Given the description of an element on the screen output the (x, y) to click on. 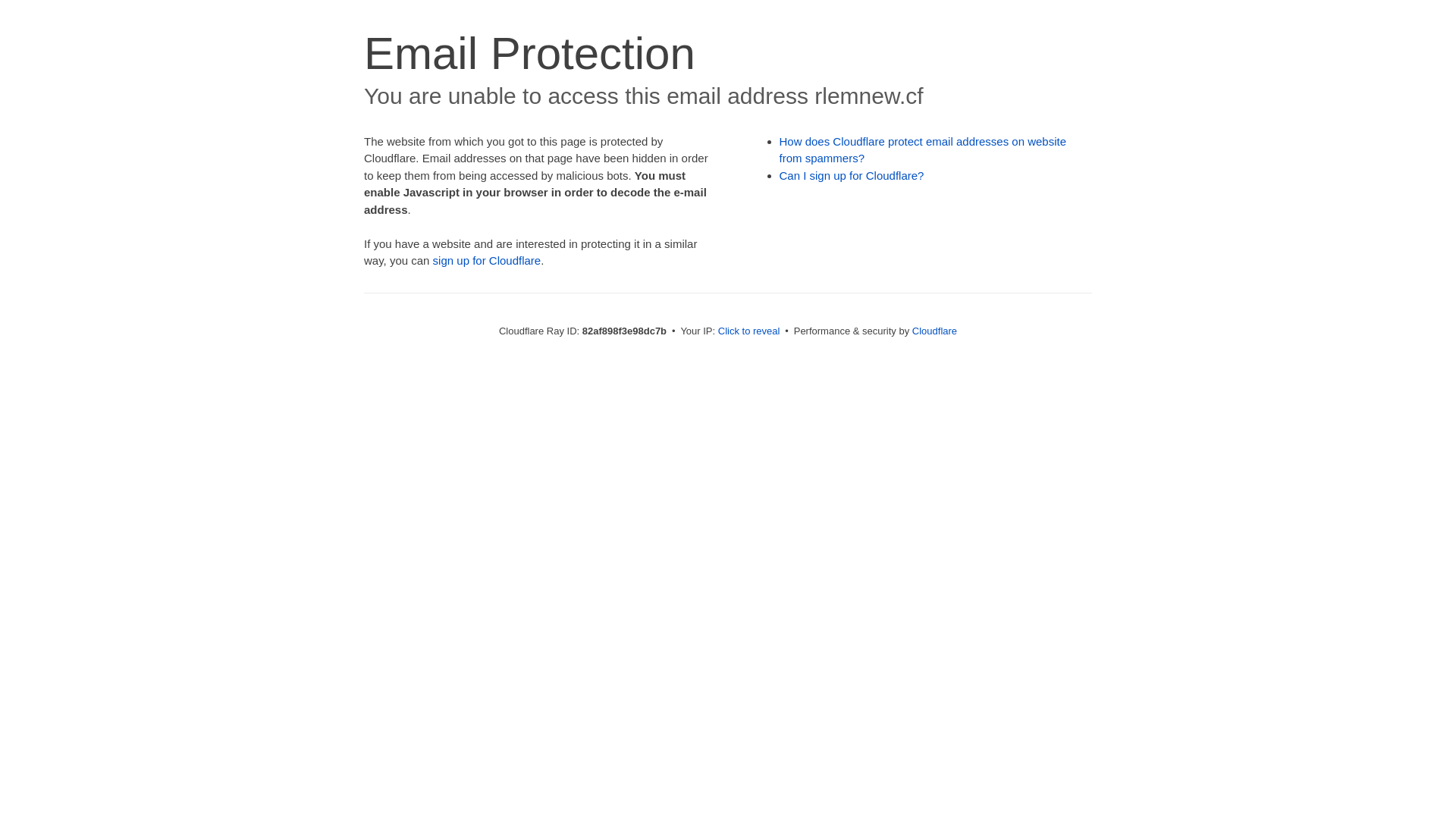
Cloudflare Element type: text (934, 330)
Click to reveal Element type: text (749, 330)
Can I sign up for Cloudflare? Element type: text (851, 175)
sign up for Cloudflare Element type: text (487, 260)
